Given the description of an element on the screen output the (x, y) to click on. 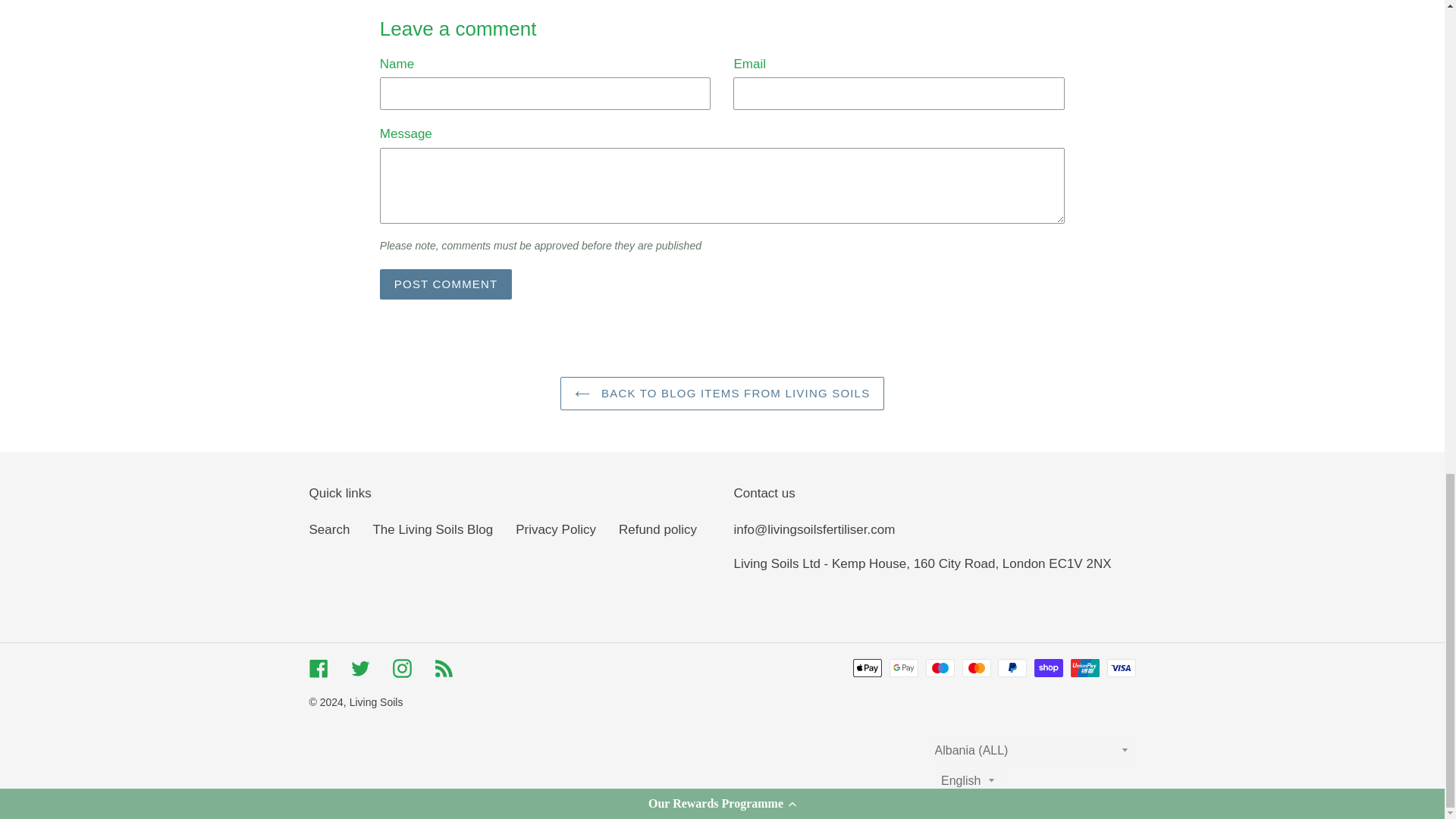
Post comment (446, 284)
